Given the description of an element on the screen output the (x, y) to click on. 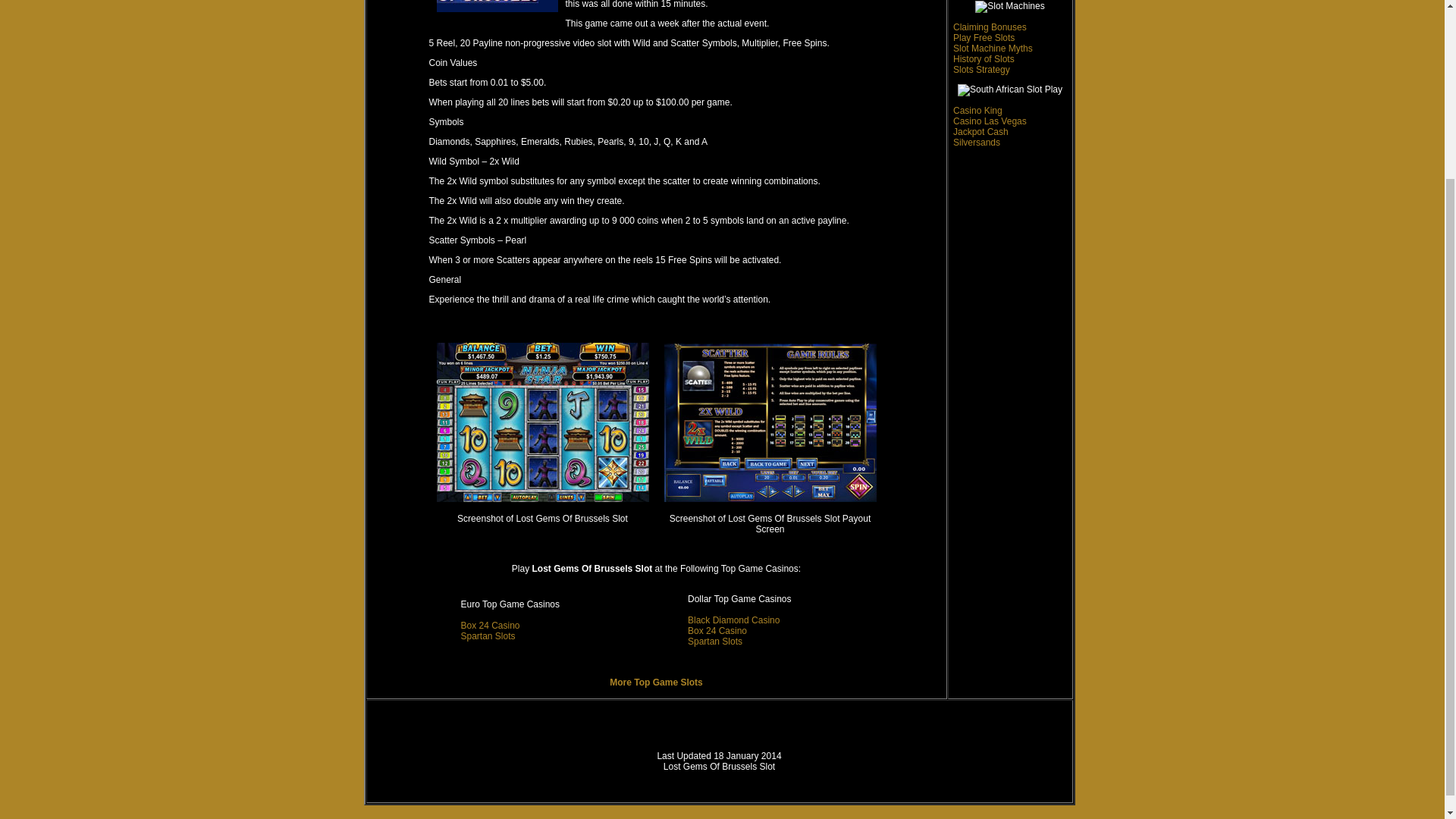
Black Diamond Casino (732, 620)
Jackpot Cash (981, 131)
Box 24 Casino (716, 630)
Slot Machine Myths (992, 48)
Casino Las Vegas (989, 121)
Casino King (978, 110)
Slots Strategy (981, 69)
More Top Game Slots (655, 682)
